Given the description of an element on the screen output the (x, y) to click on. 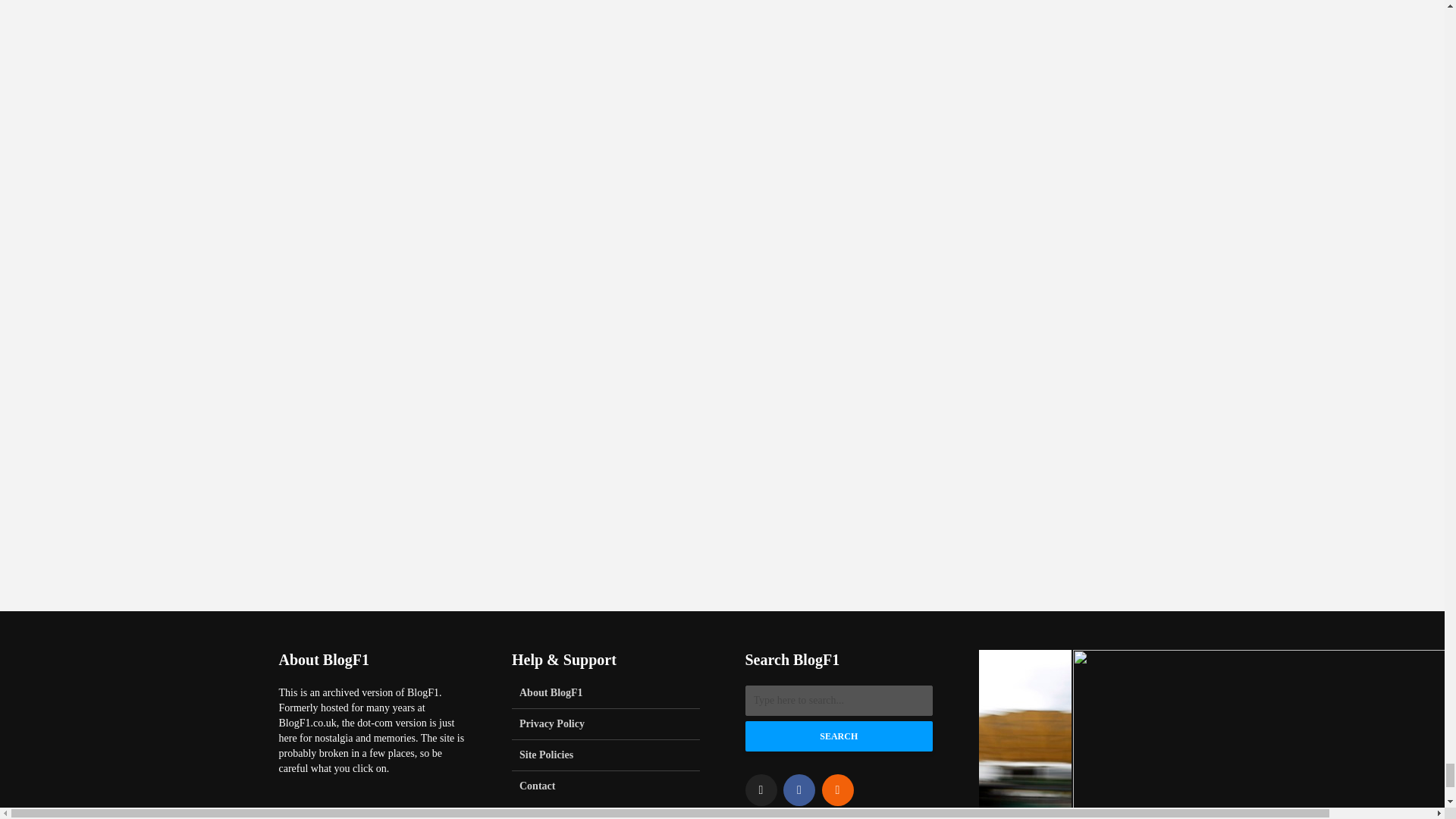
Facebook (799, 789)
RSS (837, 789)
